Given the description of an element on the screen output the (x, y) to click on. 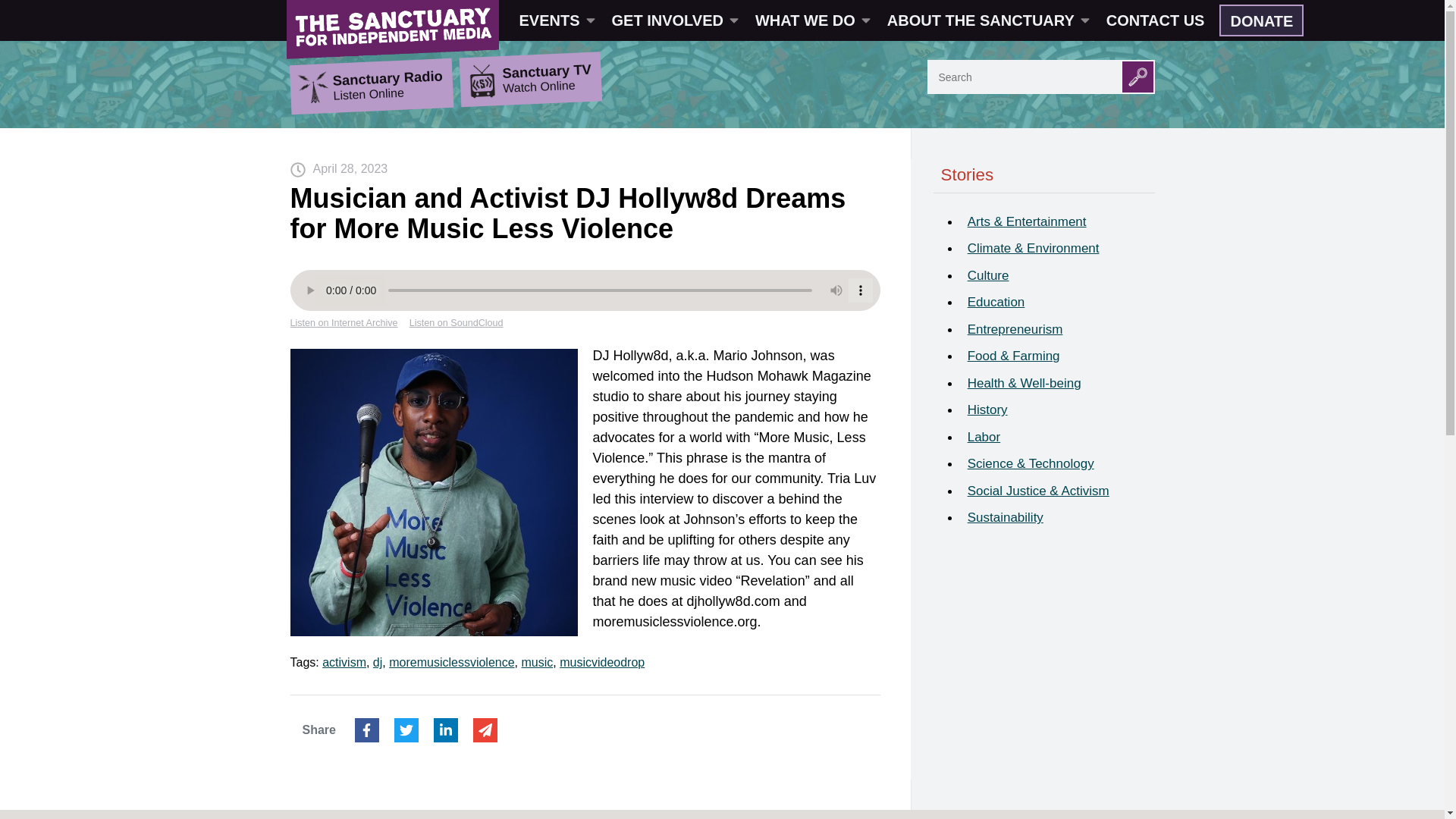
EVENTS (555, 20)
ABOUT THE SANCTUARY (987, 20)
WHAT WE DO (811, 20)
GET INVOLVED (673, 20)
